Given the description of an element on the screen output the (x, y) to click on. 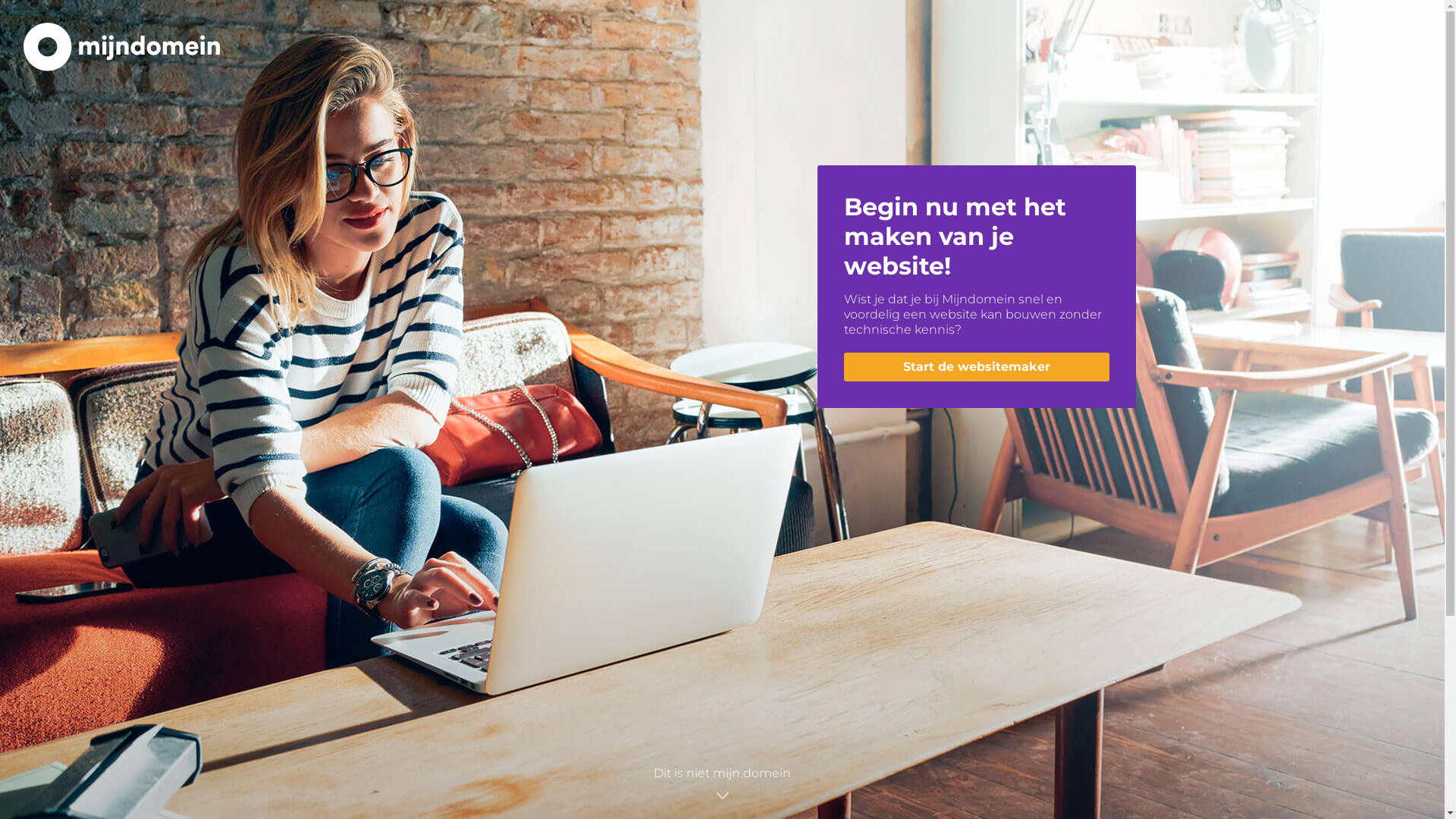
Start de websitemaker Element type: text (975, 366)
Dit is niet mijn domein Element type: text (721, 784)
